Given the description of an element on the screen output the (x, y) to click on. 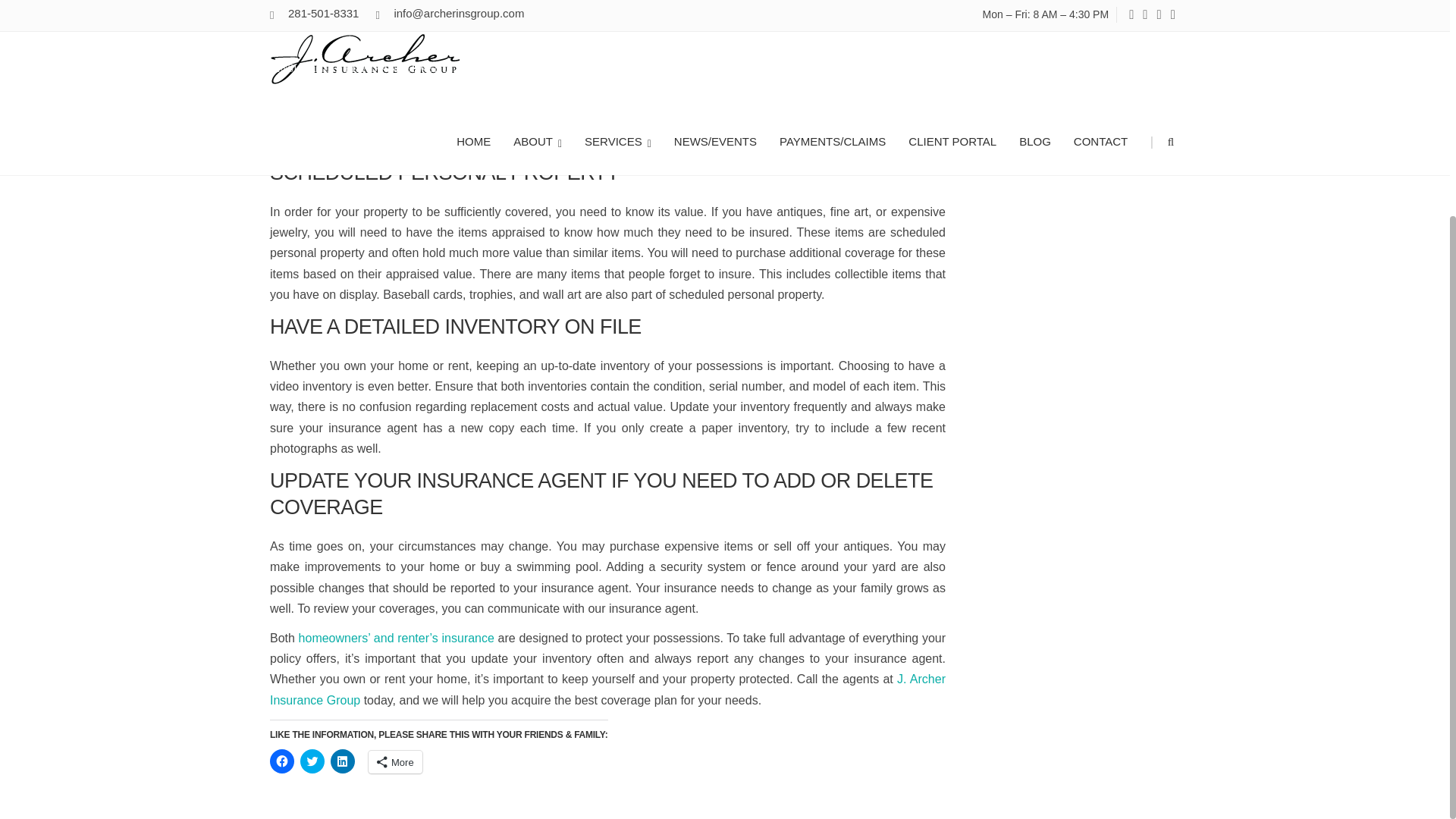
Click to share on Facebook (281, 761)
Click to share on Twitter (311, 761)
Click to share on LinkedIn (342, 761)
